Given the description of an element on the screen output the (x, y) to click on. 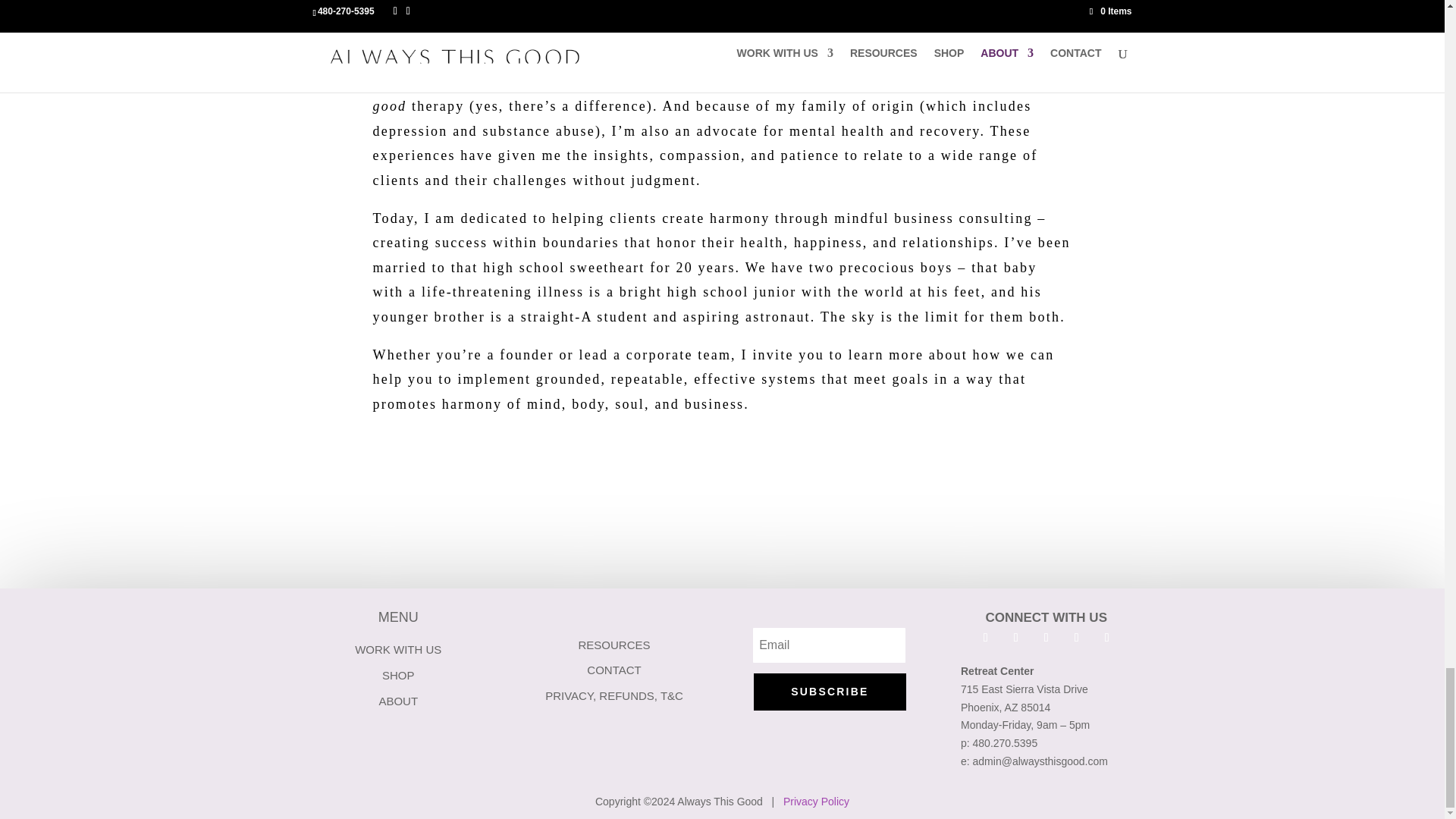
Follow on Facebook (985, 637)
Follow on TikTok (1106, 637)
Privacy Policy (815, 801)
SUBSCRIBE (829, 692)
Follow on Youtube (1045, 637)
Follow on Spotify (1076, 637)
Follow on Instagram (1015, 637)
